Given the description of an element on the screen output the (x, y) to click on. 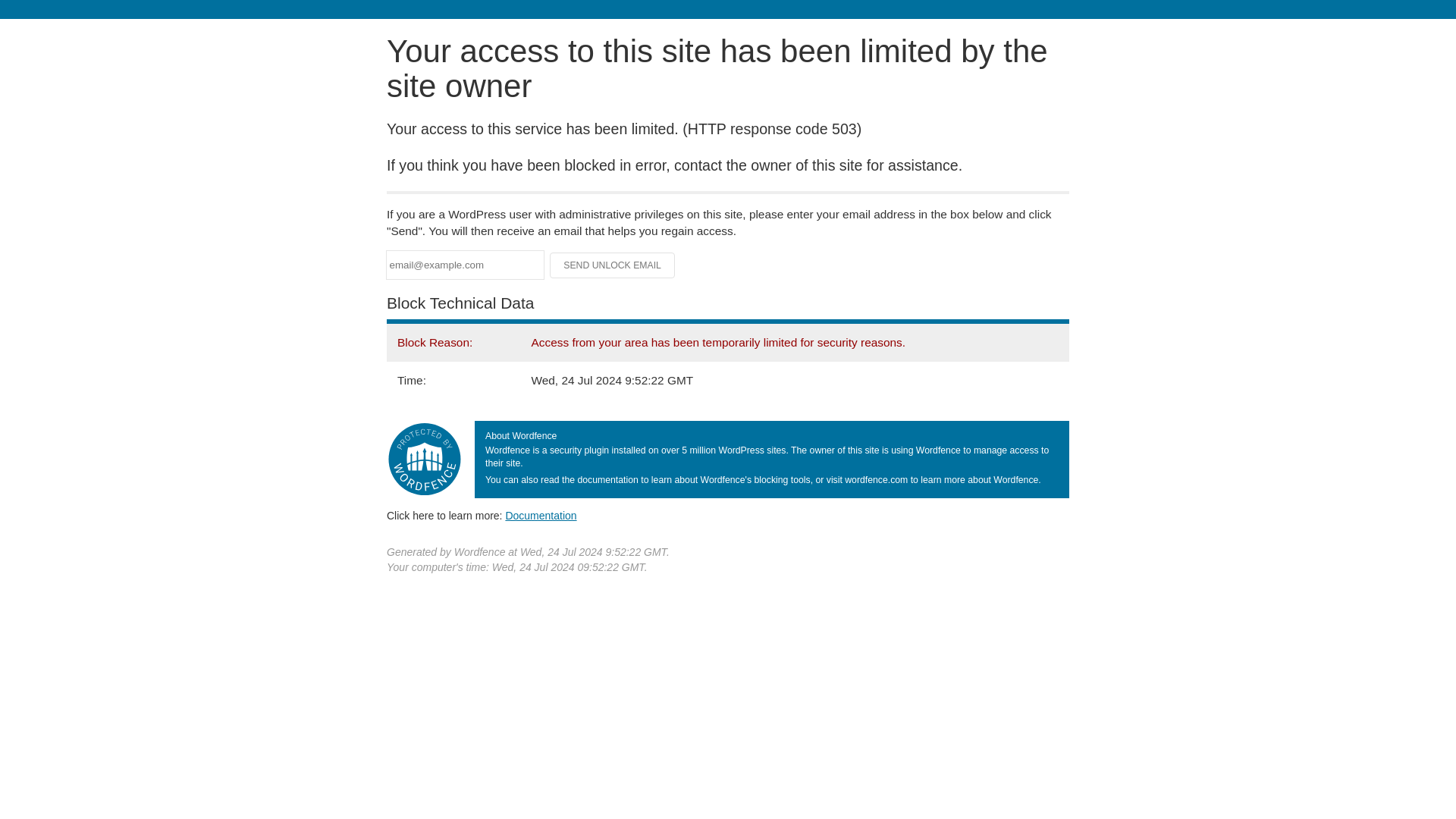
Send Unlock Email (612, 265)
Documentation (540, 515)
Send Unlock Email (612, 265)
